Given the description of an element on the screen output the (x, y) to click on. 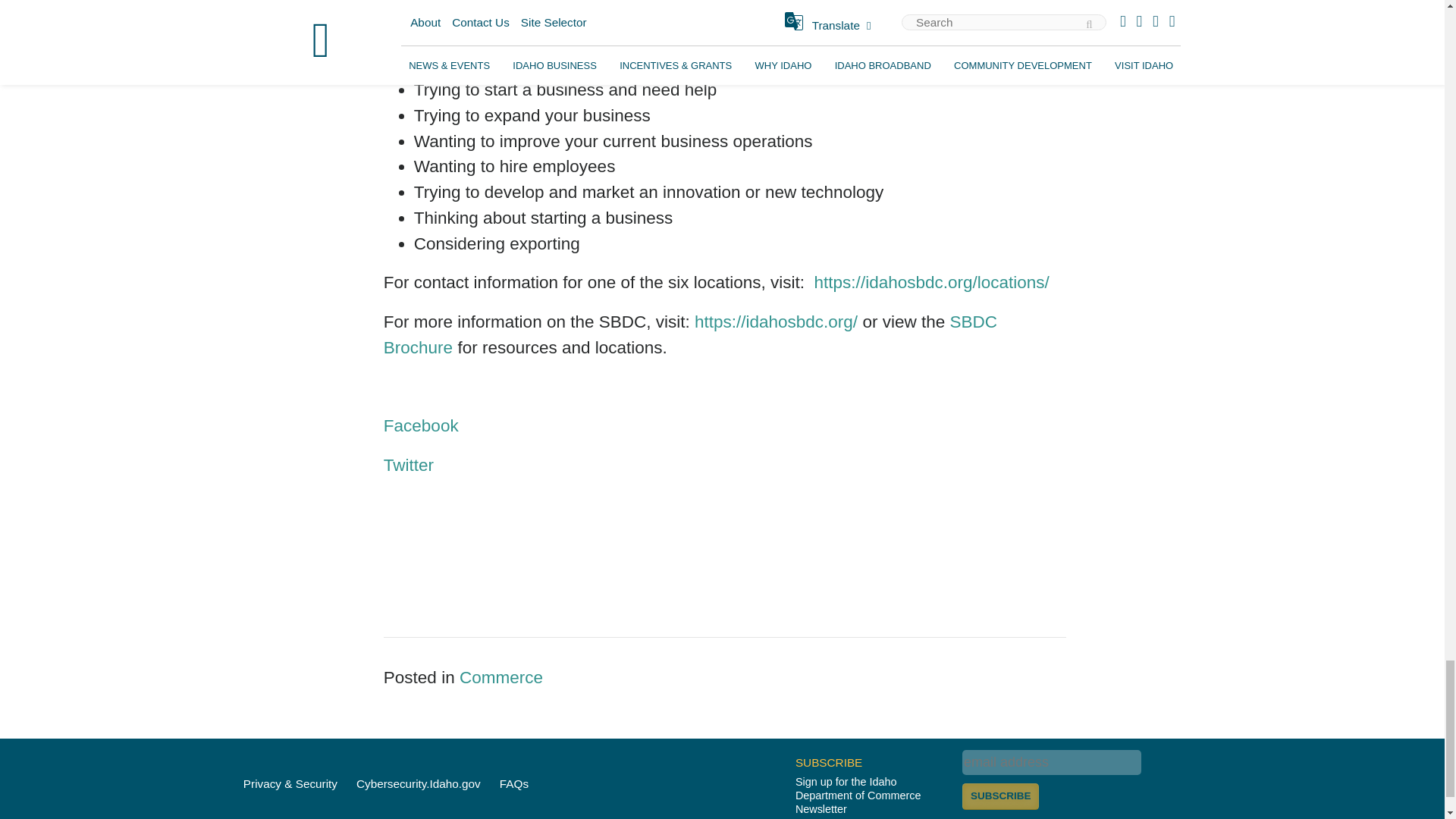
Subscribe (1000, 795)
